Given the description of an element on the screen output the (x, y) to click on. 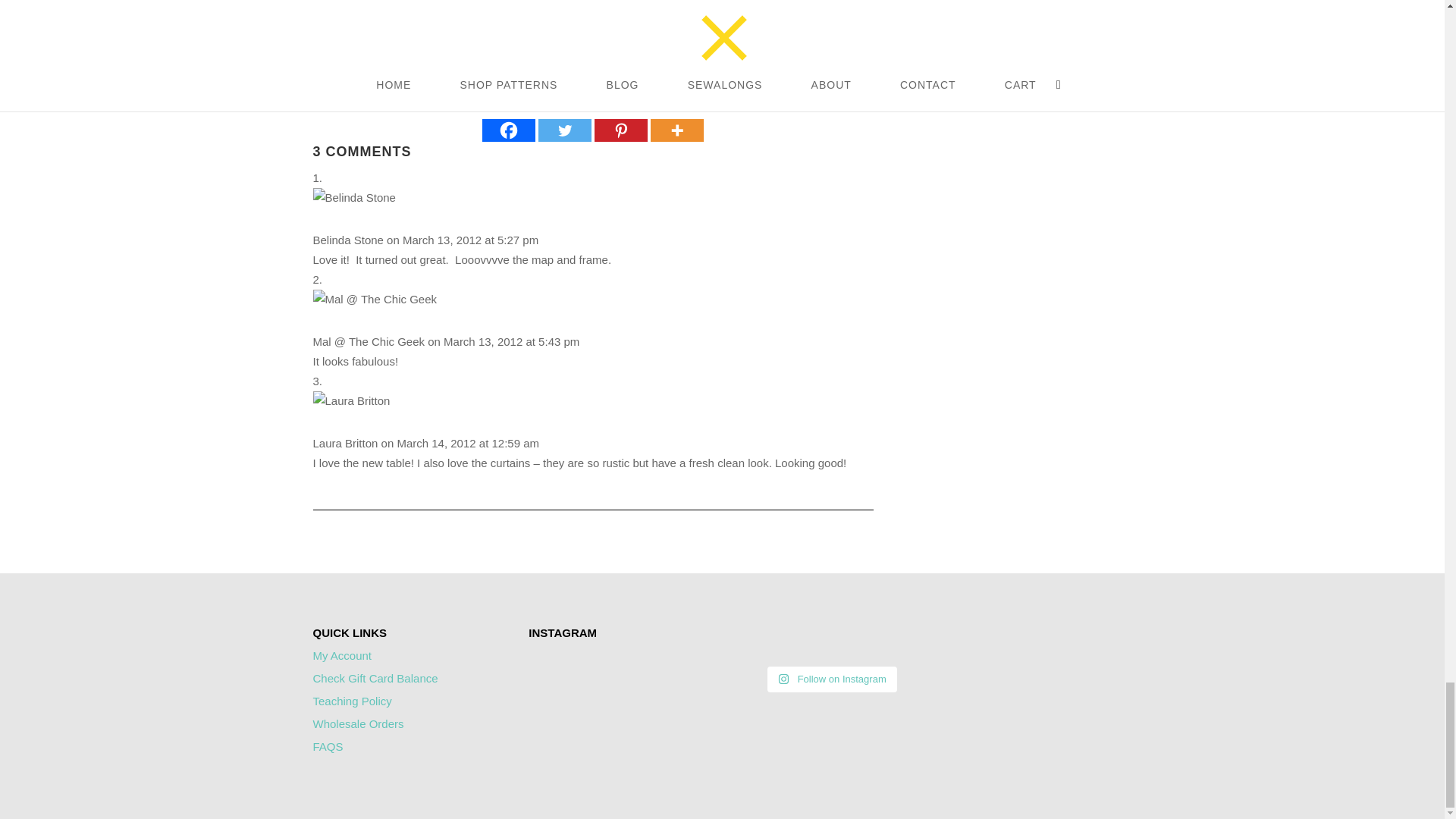
More (676, 129)
Facebook (508, 129)
Pinterest (620, 129)
Twitter (564, 129)
